Given the description of an element on the screen output the (x, y) to click on. 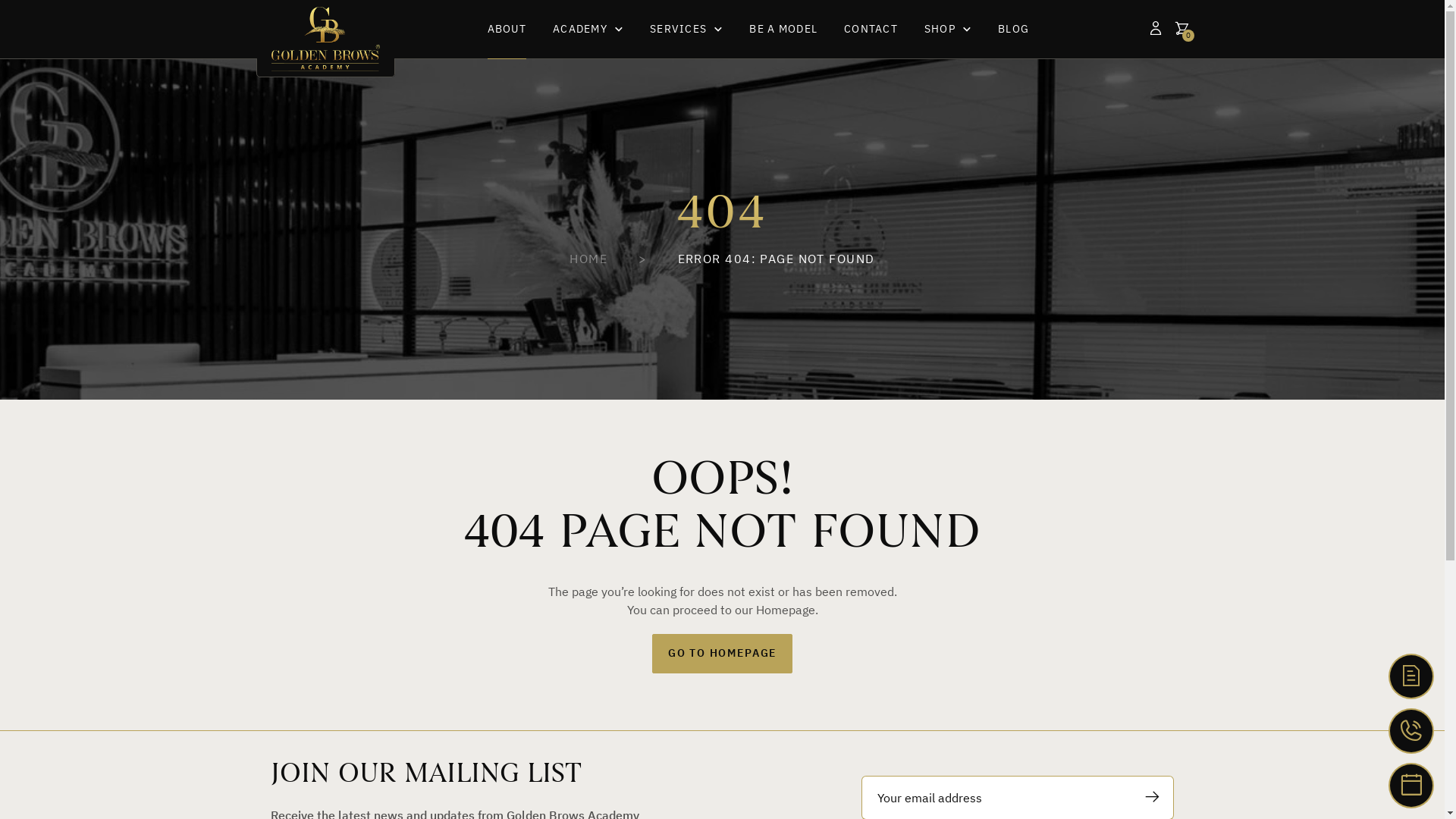
STUDENT ENROLMENT Element type: hover (1411, 676)
ACADEMY Element type: text (587, 28)
0 Element type: text (1182, 28)
Golden Brows Academy Element type: hover (325, 38)
BE A MODEL Element type: text (783, 28)
SHOP Element type: text (947, 28)
BLOG Element type: text (1013, 28)
GO TO HOMEPAGE Element type: text (722, 653)
HOME Element type: text (588, 258)
BOOK SERVICE Element type: hover (1411, 785)
HOTLINE 0449899899 Element type: hover (1411, 730)
ABOUT Element type: text (506, 28)
Login Element type: hover (1154, 28)
Rectangle 5 Element type: hover (722, 228)
SERVICES Element type: text (685, 28)
CONTACT Element type: text (870, 28)
Logo Golden Brows Element type: hover (325, 38)
